Given the description of an element on the screen output the (x, y) to click on. 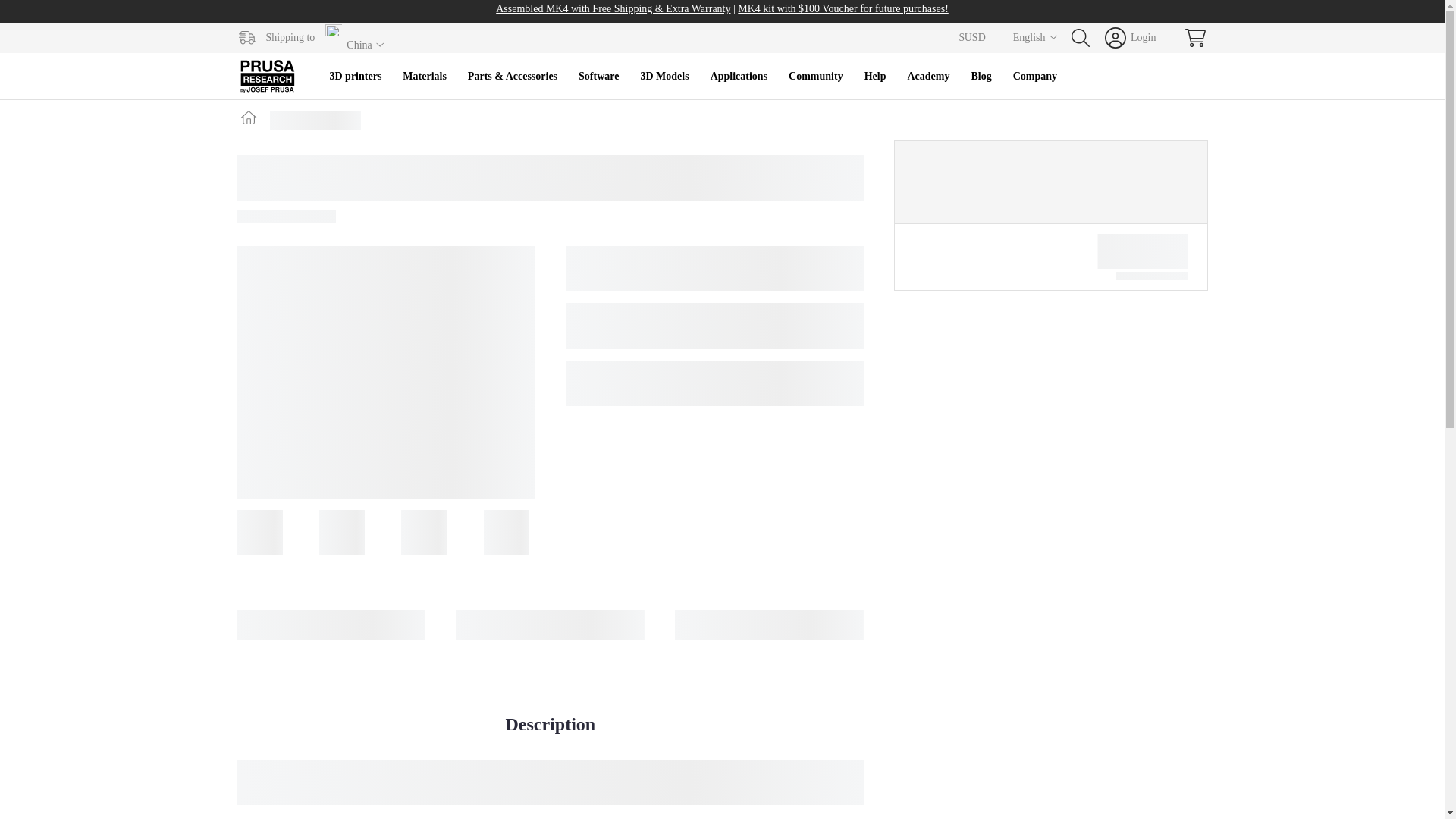
3D Models (663, 76)
Company (1035, 76)
3D printers (354, 76)
Community (815, 76)
Blog (980, 76)
Materials (424, 76)
Help (874, 76)
Academy (927, 76)
Applications (738, 76)
Software (597, 76)
Login (1129, 37)
